Given the description of an element on the screen output the (x, y) to click on. 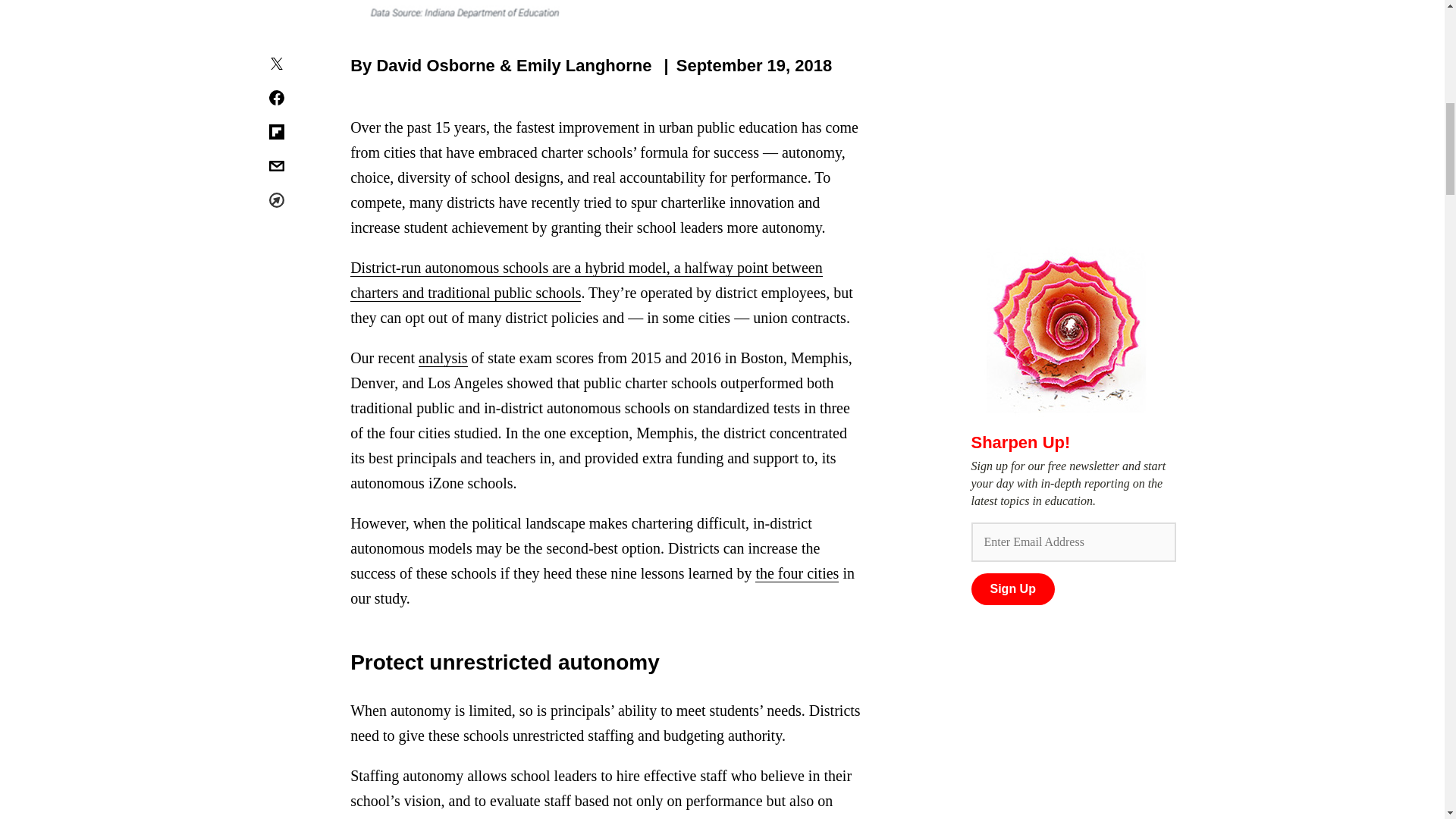
Youth Mental Health (781, 395)
Politics (781, 338)
Investigation (650, 283)
Texas (650, 366)
Keeping It 100 (490, 468)
Pandemic (490, 311)
Weaving a Stronger Society (490, 403)
Analysis (328, 338)
4Fams (490, 439)
Video (328, 311)
Critical Race Theory (781, 254)
School Staffing Map (328, 429)
Teacher Voice (650, 311)
Opinion (328, 283)
Ed Tech (781, 311)
